Given the description of an element on the screen output the (x, y) to click on. 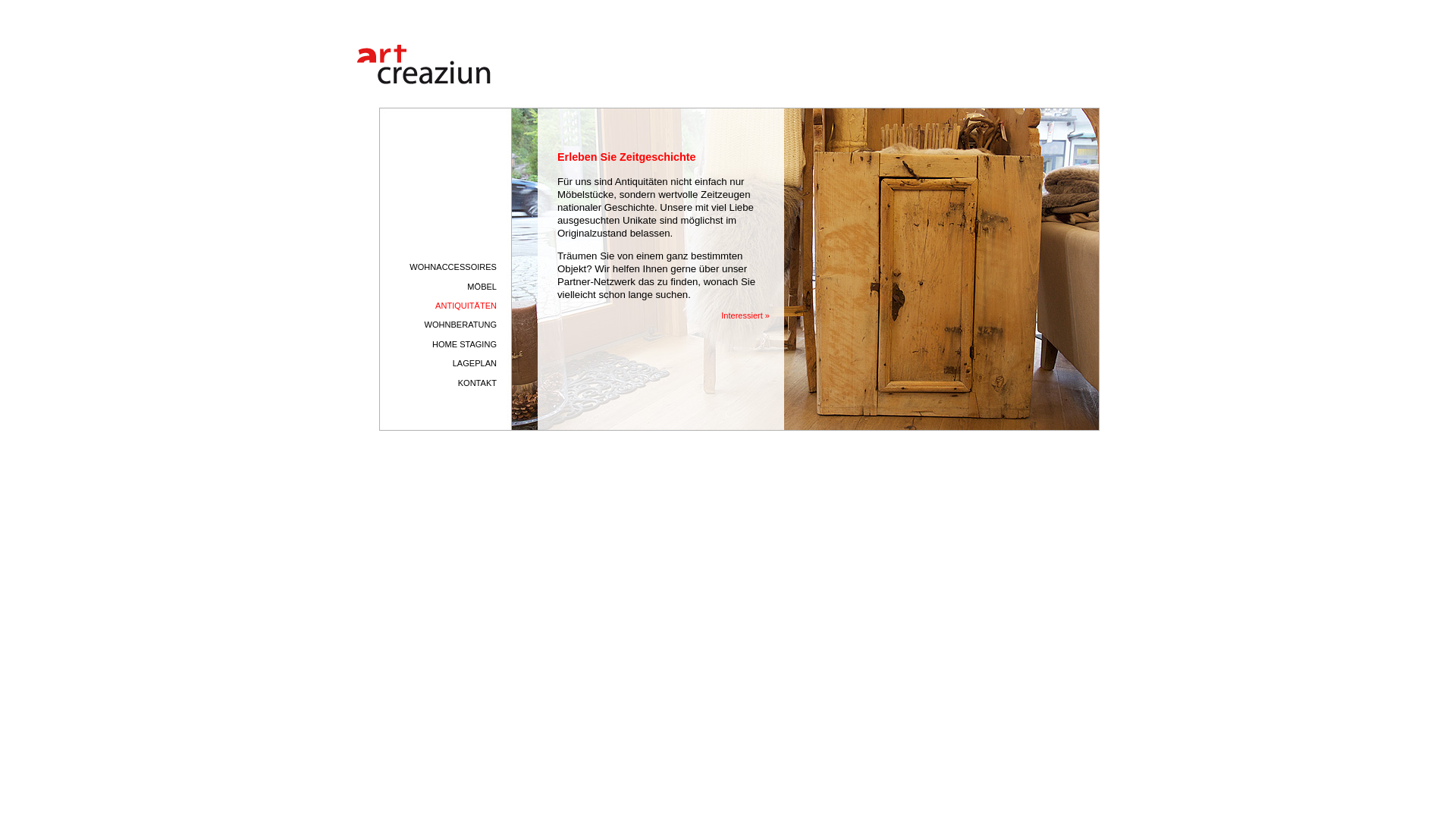
HOME STAGING Element type: text (437, 344)
WOHNBERATUNG Element type: text (437, 324)
KONTAKT Element type: text (437, 382)
LAGEPLAN Element type: text (437, 363)
WOHNACCESSOIRES Element type: text (437, 266)
